Given the description of an element on the screen output the (x, y) to click on. 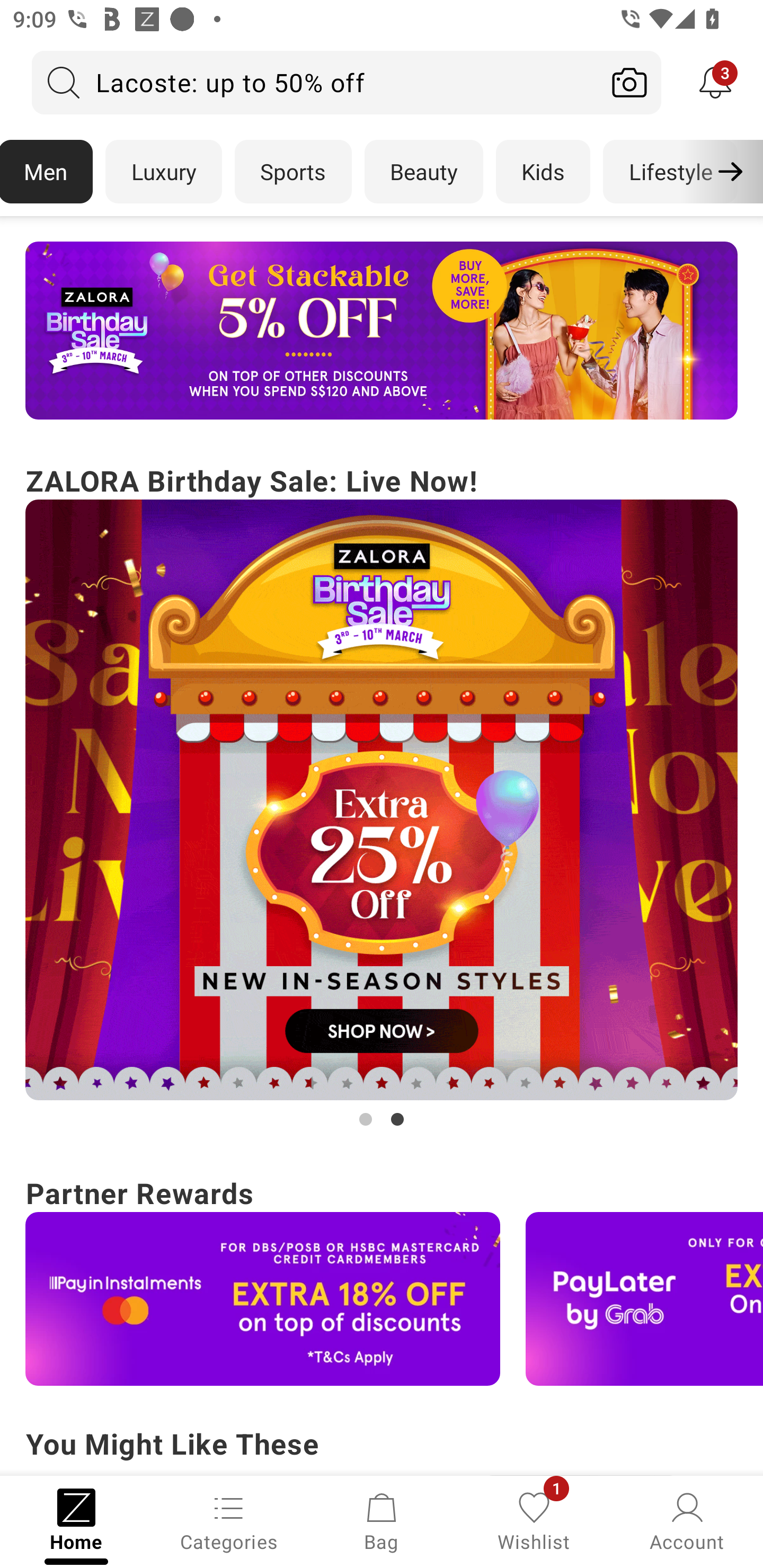
Lacoste: up to 50% off (314, 82)
Men (46, 171)
Luxury (163, 171)
Sports (293, 171)
Beauty (423, 171)
Kids (542, 171)
Lifestyle (669, 171)
Campaign banner (381, 330)
ZALORA Birthday Sale: Live Now! Campaign banner (381, 794)
Campaign banner (381, 800)
Partner Rewards Campaign banner Campaign banner (381, 1277)
Campaign banner (262, 1299)
Campaign banner (644, 1299)
Categories (228, 1519)
Bag (381, 1519)
Wishlist, 1 new notification Wishlist (533, 1519)
Account (686, 1519)
